Given the description of an element on the screen output the (x, y) to click on. 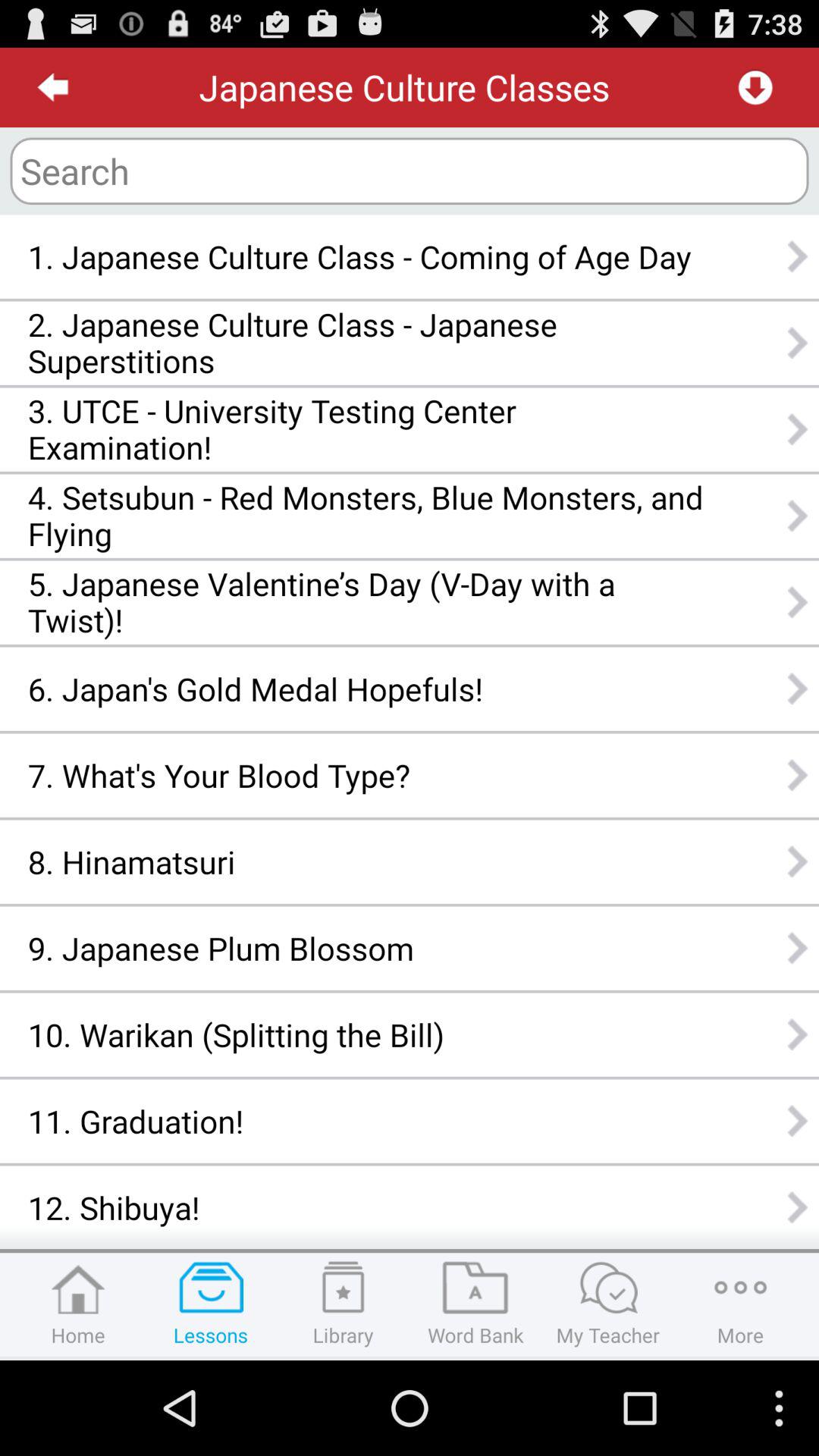
scroll to the 11. graduation! app (365, 1121)
